Given the description of an element on the screen output the (x, y) to click on. 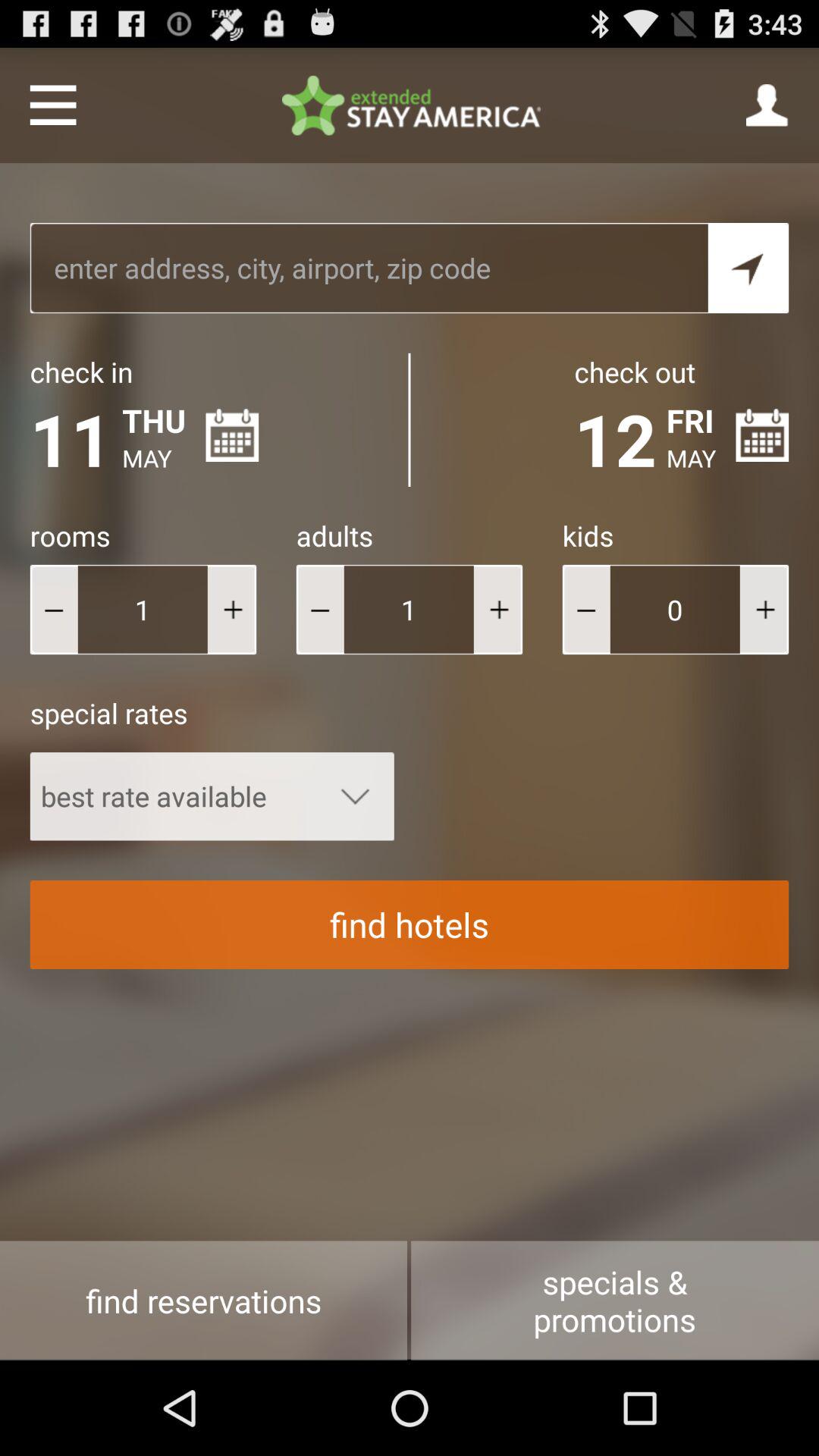
enter text to search (369, 267)
